Given the description of an element on the screen output the (x, y) to click on. 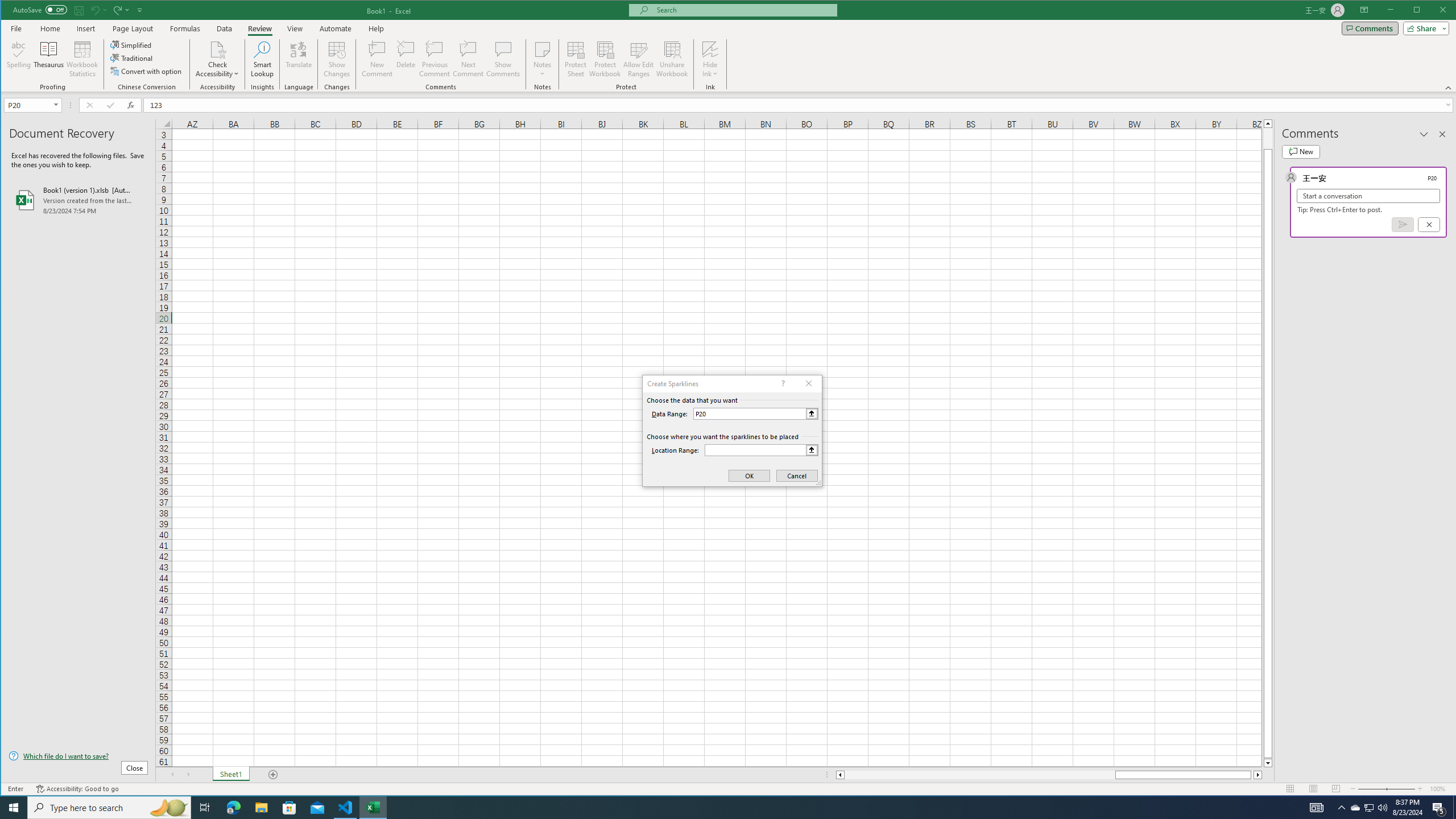
Hide Ink (710, 48)
Unshare Workbook (671, 59)
Task Pane Options (1423, 133)
Normal (1290, 788)
Check Accessibility (217, 48)
Data (224, 28)
Next Comment (467, 59)
Column right (1258, 774)
Smart Lookup (261, 59)
